Given the description of an element on the screen output the (x, y) to click on. 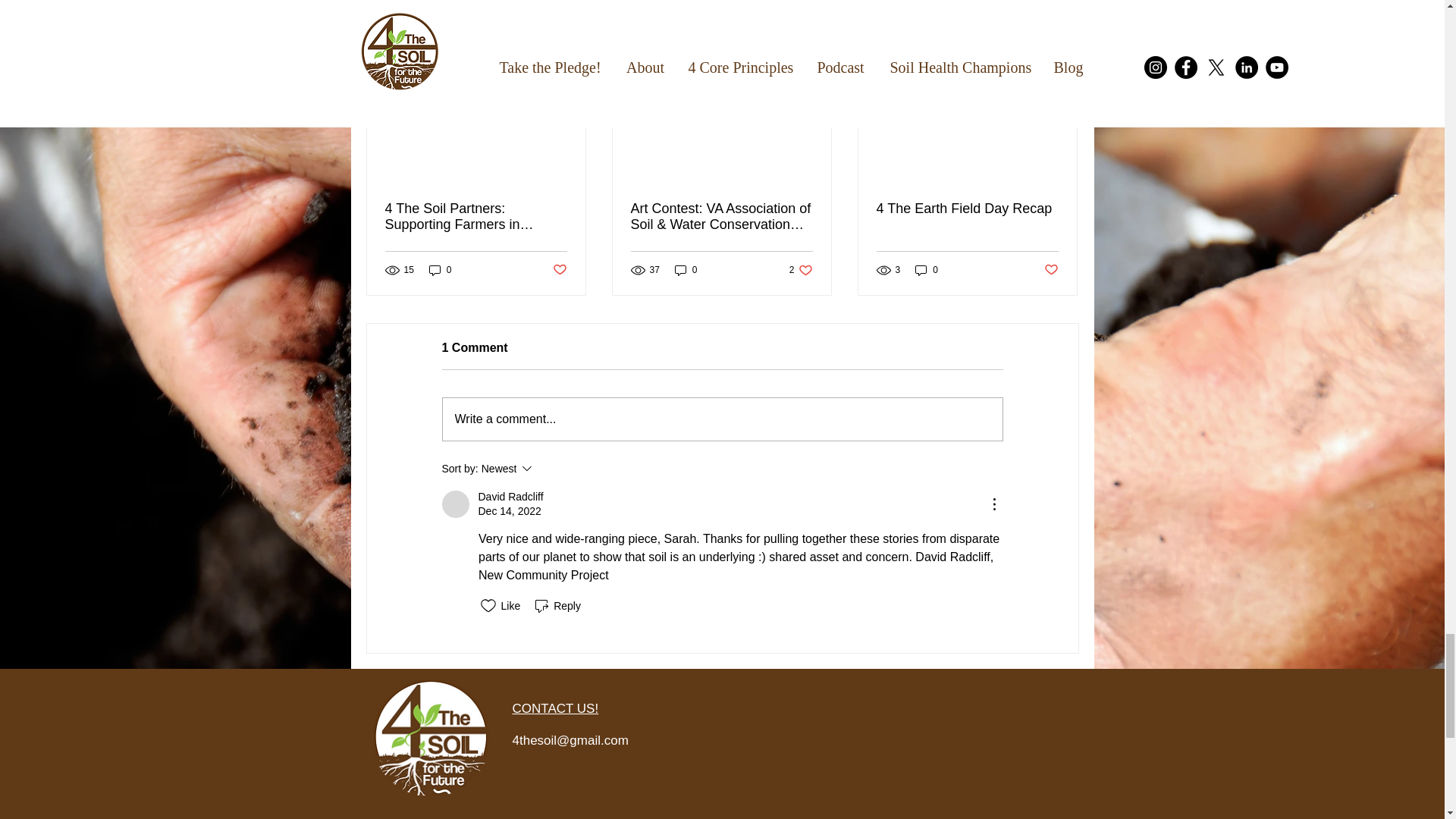
David Radcliff (454, 503)
